Given the description of an element on the screen output the (x, y) to click on. 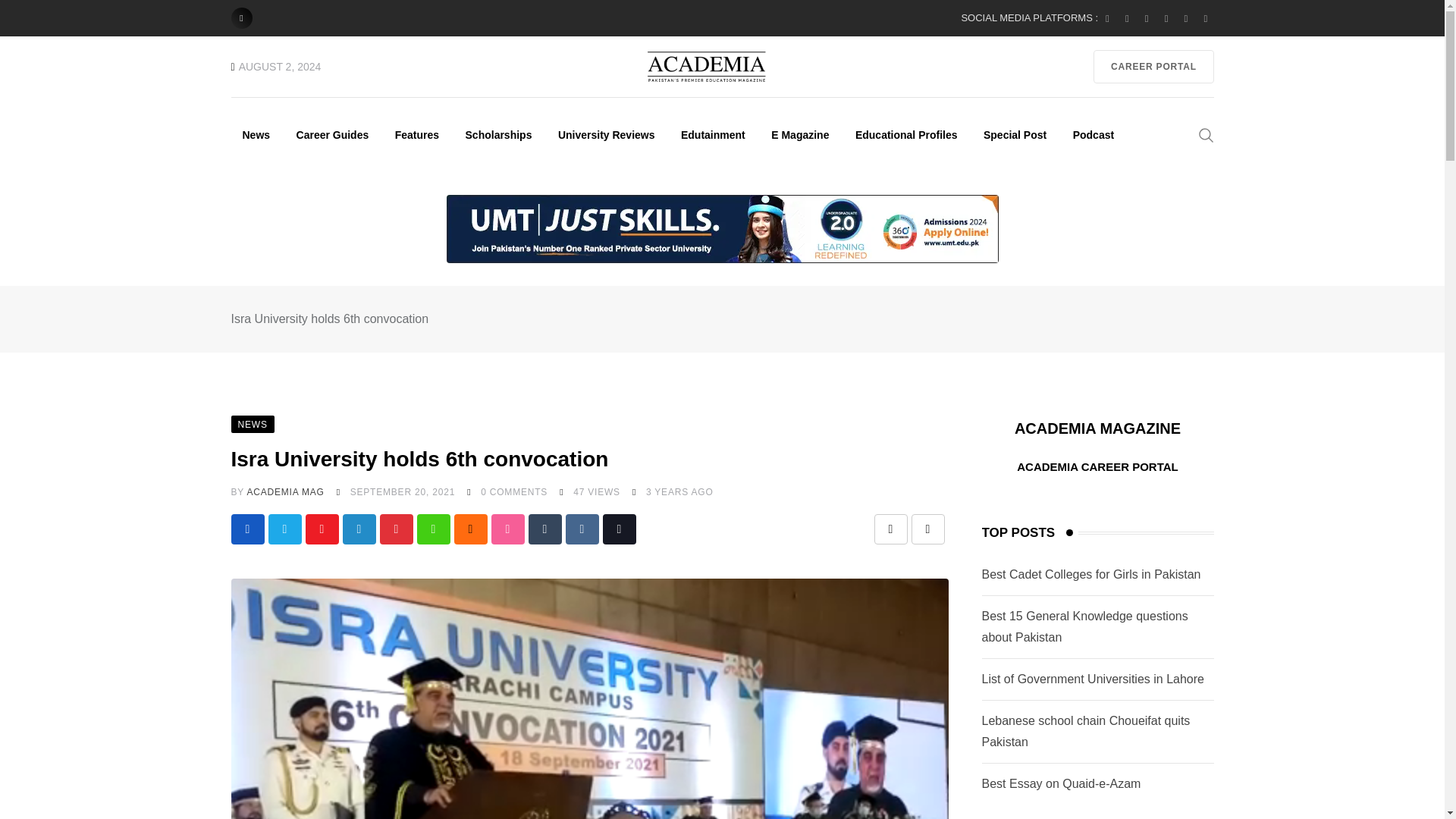
Special Post (1015, 134)
CAREER PORTAL (1153, 66)
Edutainment (713, 134)
University Reviews (606, 134)
Posts by Academia Mag (284, 491)
Search (1205, 134)
Career Guides (332, 134)
E Magazine (800, 134)
Scholarships (498, 134)
